Given the description of an element on the screen output the (x, y) to click on. 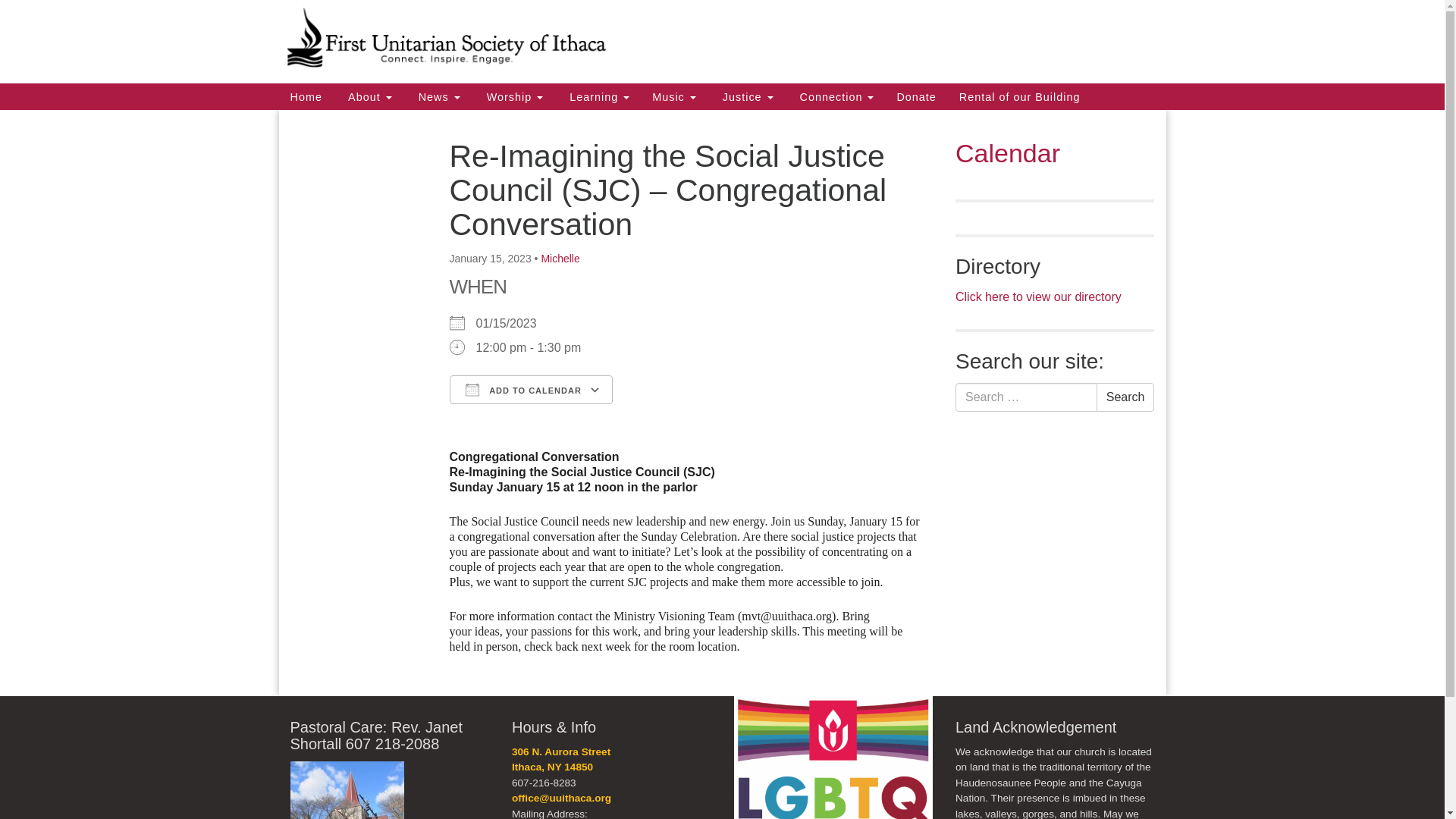
Music (673, 96)
Home (306, 96)
Worship (512, 96)
News (437, 96)
 About (368, 96)
About (368, 96)
Home (306, 96)
 Learning (597, 96)
 Worship (512, 96)
 News (437, 96)
